Given the description of an element on the screen output the (x, y) to click on. 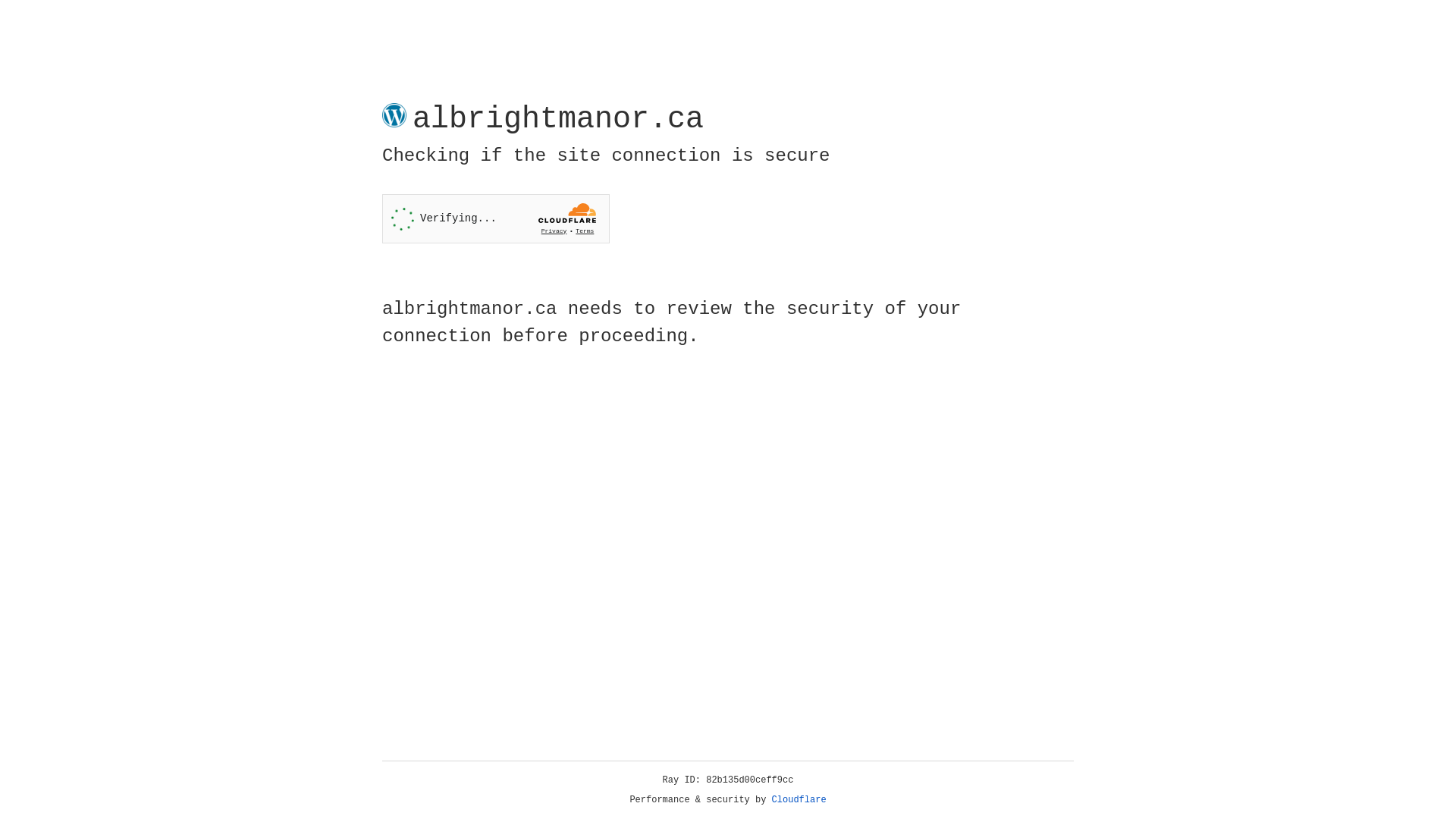
Cloudflare Element type: text (798, 799)
Widget containing a Cloudflare security challenge Element type: hover (495, 218)
